Given the description of an element on the screen output the (x, y) to click on. 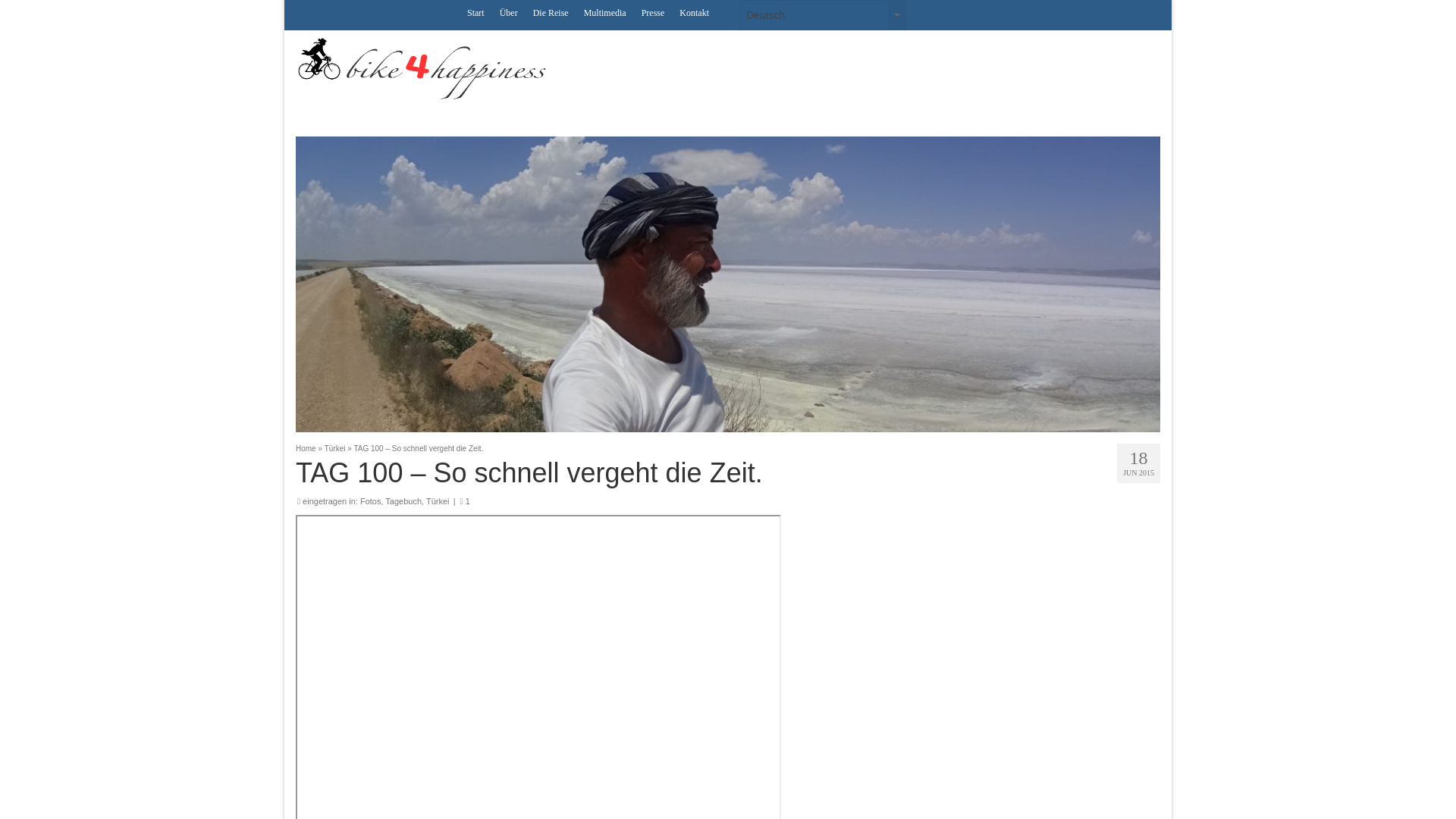
Start (476, 12)
Presse (652, 12)
bike4happiness.com (432, 68)
Multimedia (604, 12)
Kontakt (693, 12)
Deutsch (822, 15)
Die Reise (550, 12)
